Given the description of an element on the screen output the (x, y) to click on. 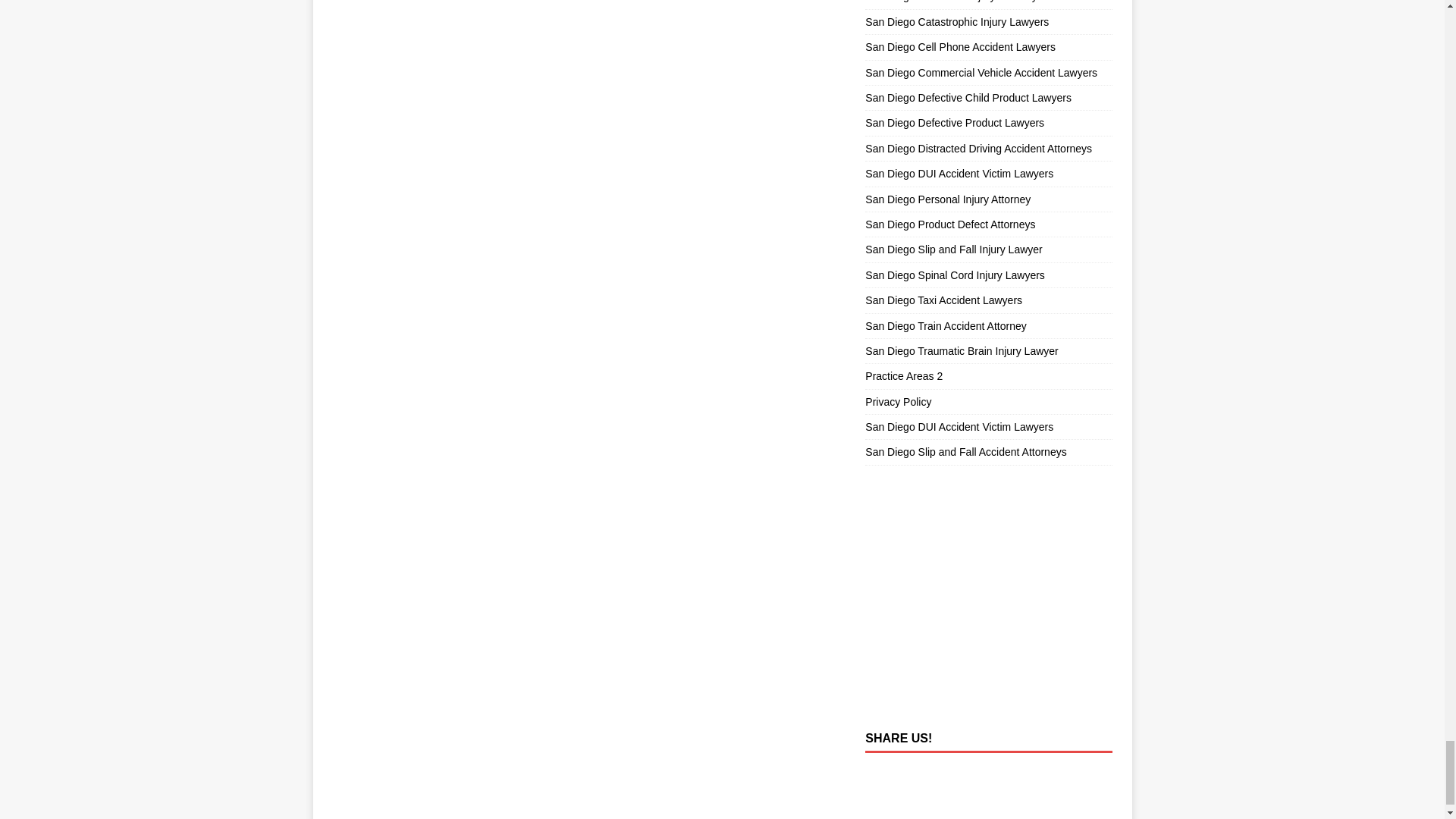
pinterest (918, 774)
facebook (882, 774)
twitter (954, 774)
linkedin (989, 774)
